Given the description of an element on the screen output the (x, y) to click on. 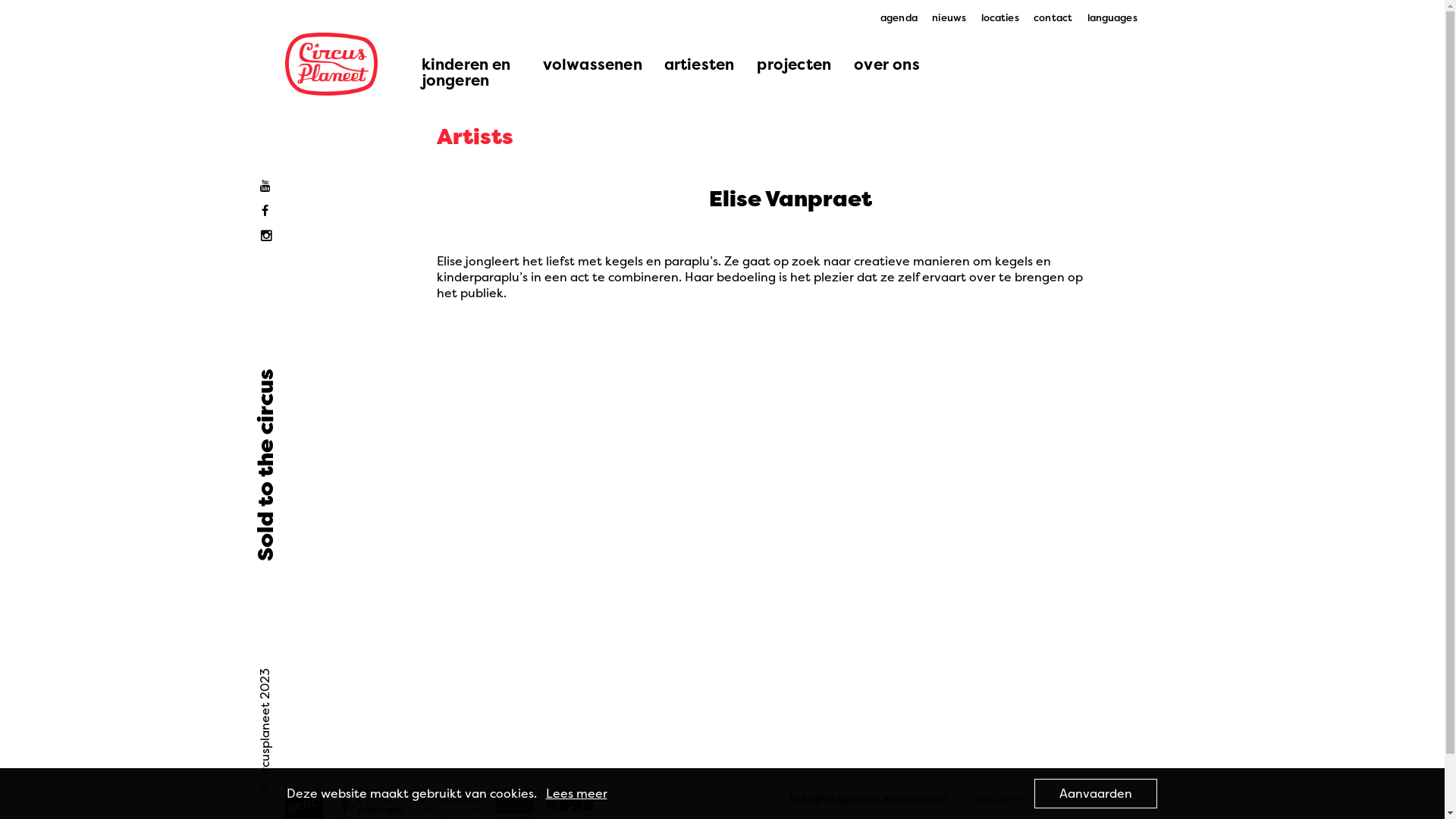
languages Element type: text (1112, 17)
contact Element type: text (1052, 17)
locaties Element type: text (999, 17)
over ons Element type: text (886, 63)
kinderen en jongeren Element type: text (469, 71)
artiesten Element type: text (698, 63)
nieuws Element type: text (949, 17)
agenda Element type: text (898, 17)
Aanvaarden Element type: text (1095, 793)
volwassenen Element type: text (591, 63)
Lees meer Element type: text (576, 792)
projecten Element type: text (793, 63)
Youtube Element type: text (267, 186)
Instagram Element type: text (267, 236)
Facebook Element type: text (267, 211)
